Given the description of an element on the screen output the (x, y) to click on. 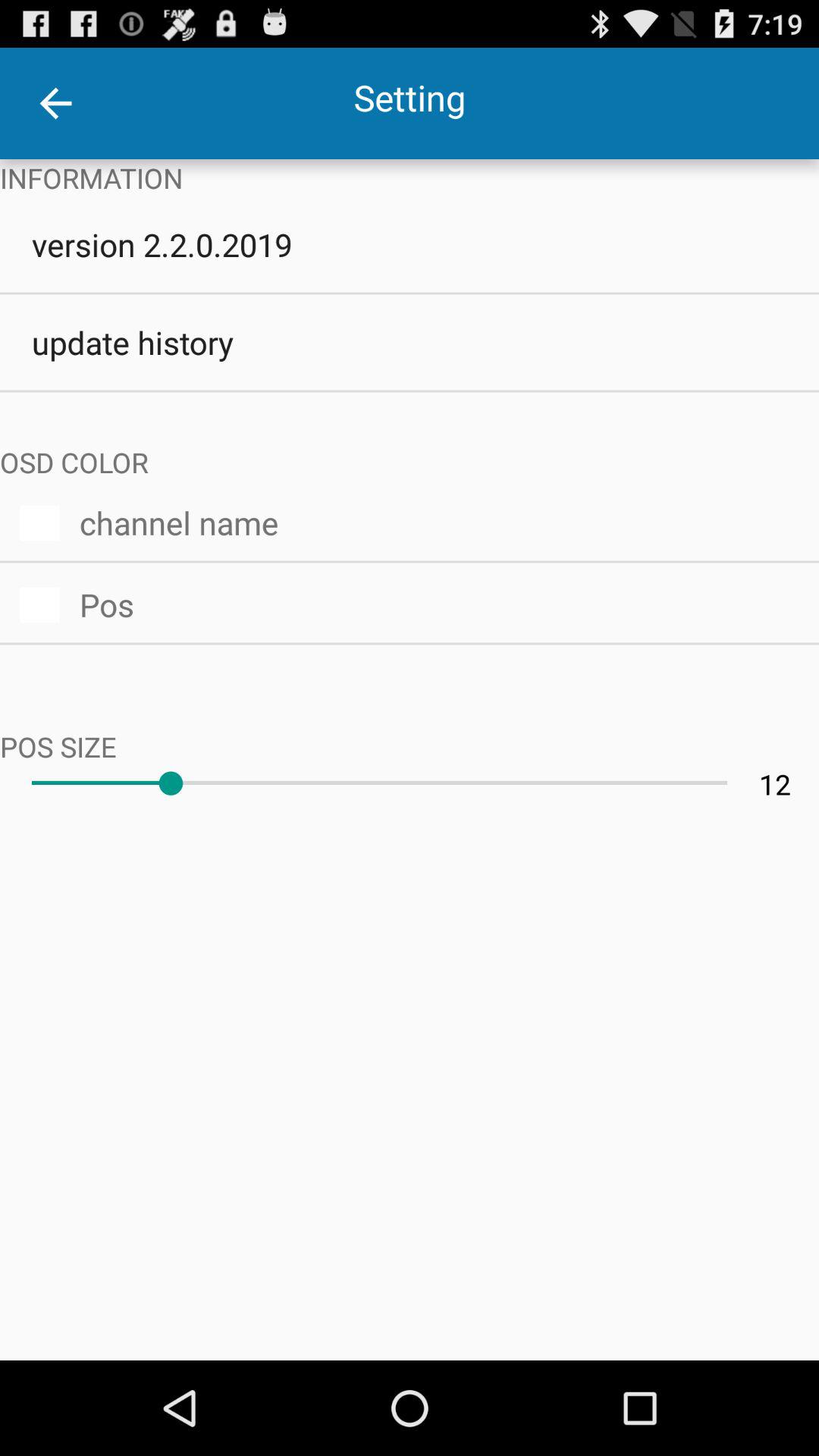
jump until update history icon (409, 342)
